Given the description of an element on the screen output the (x, y) to click on. 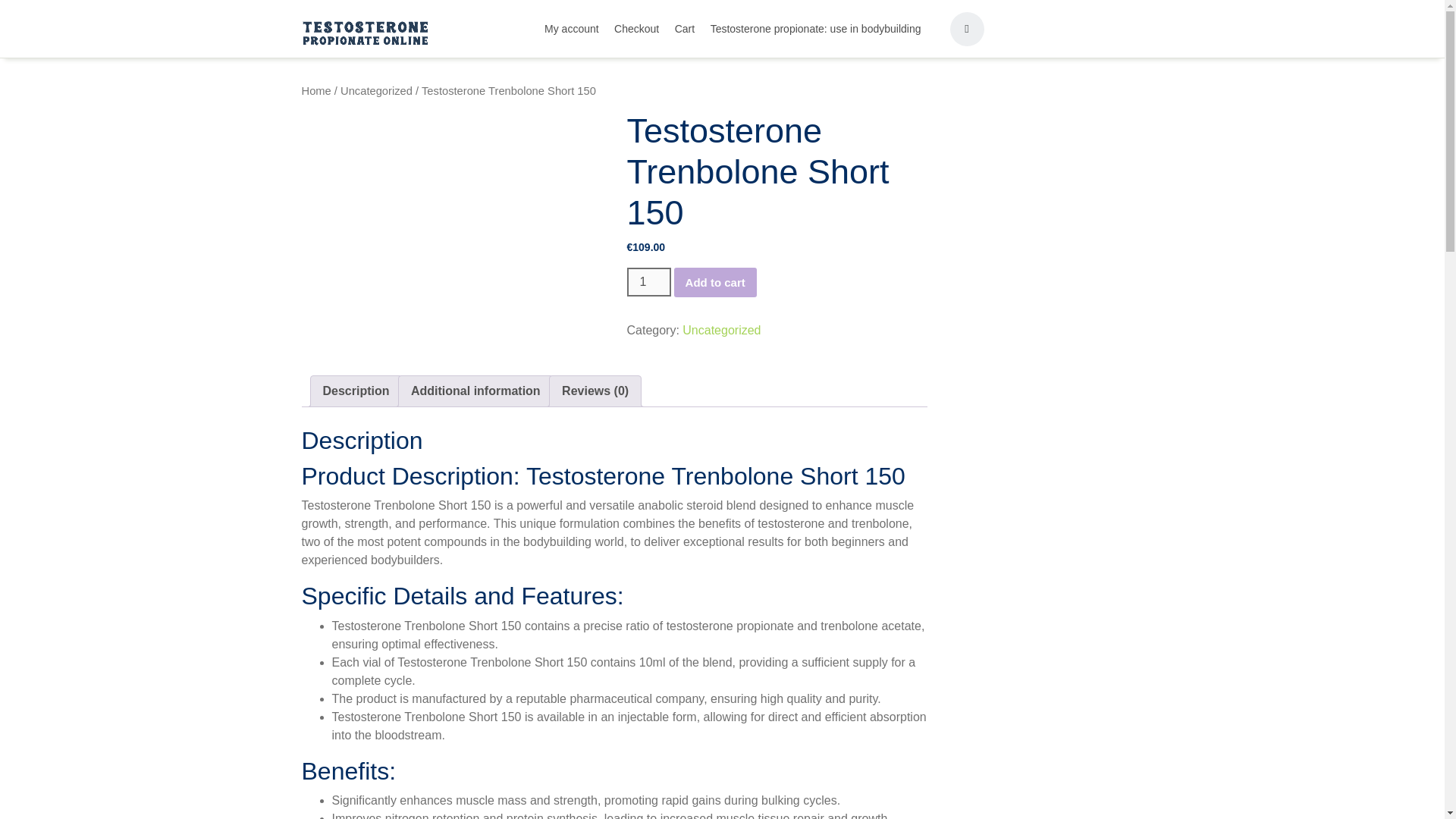
Uncategorized (721, 329)
Description (356, 390)
Uncategorized (376, 91)
Testosterone propionate: use in bodybuilding (815, 28)
Checkout (636, 28)
1 (647, 281)
shopping cart (966, 27)
Additional information (475, 390)
Home (316, 91)
Add to cart (715, 282)
